Given the description of an element on the screen output the (x, y) to click on. 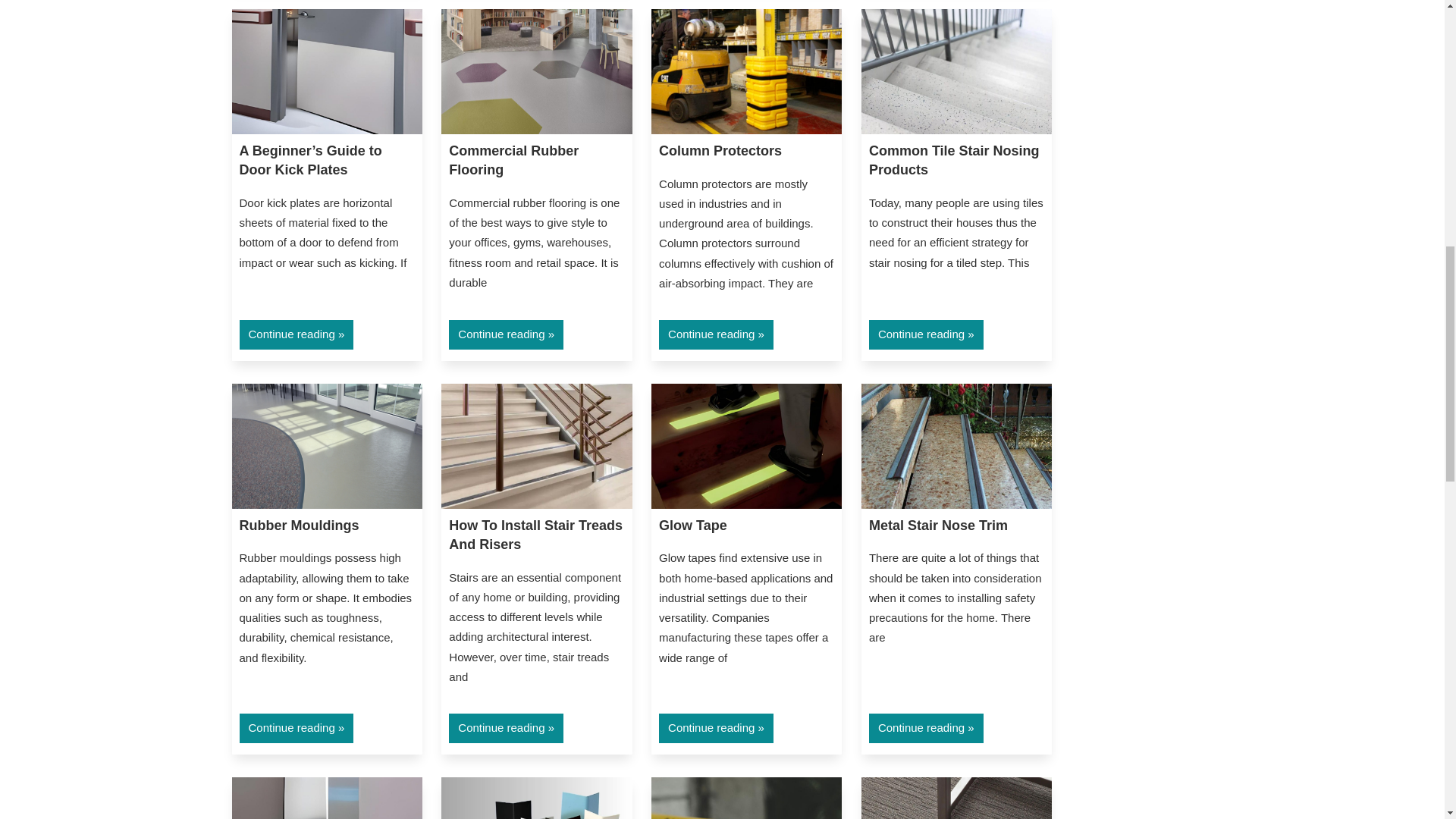
Continue reading (505, 334)
How To Install Stair Treads And Risers 27 (536, 446)
Column Protectors (720, 150)
Common Tile Stair Nosing Products 24 (956, 71)
Glow Tape 28 (745, 446)
Continue reading (716, 334)
Rubber Mouldings 26 (326, 446)
Column Protectors 23 (745, 71)
Commercial Rubber Flooring 21 (536, 71)
Continue reading (296, 334)
Tile Edging Trim 39 (956, 797)
Commercial Rubber Flooring (513, 160)
Choosing the Right Wall Corner Guards 32 (536, 797)
Warning Tape 38 (745, 797)
Common Tile Stair Nosing Products (954, 160)
